Given the description of an element on the screen output the (x, y) to click on. 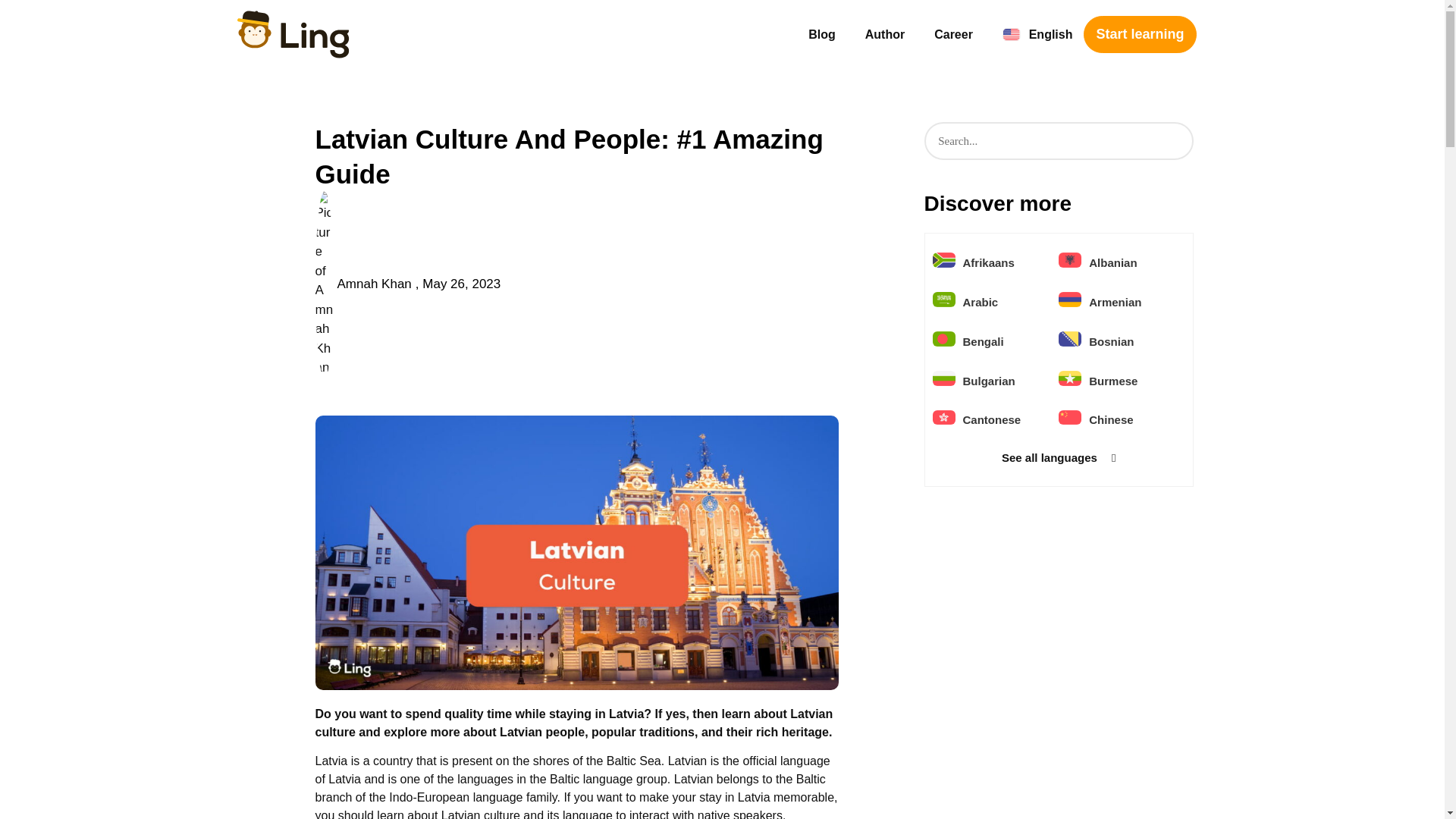
Burmese (1113, 381)
Blog (821, 34)
English (1037, 34)
Cantonese (992, 419)
Afrikaans (988, 262)
English (1037, 34)
Arabic (980, 302)
Armenian (1115, 302)
Bosnian (1111, 341)
Career (953, 34)
Albanian (1113, 262)
Start learning (1139, 34)
Bengali (983, 341)
Bulgarian (988, 381)
Chinese (1110, 419)
